Given the description of an element on the screen output the (x, y) to click on. 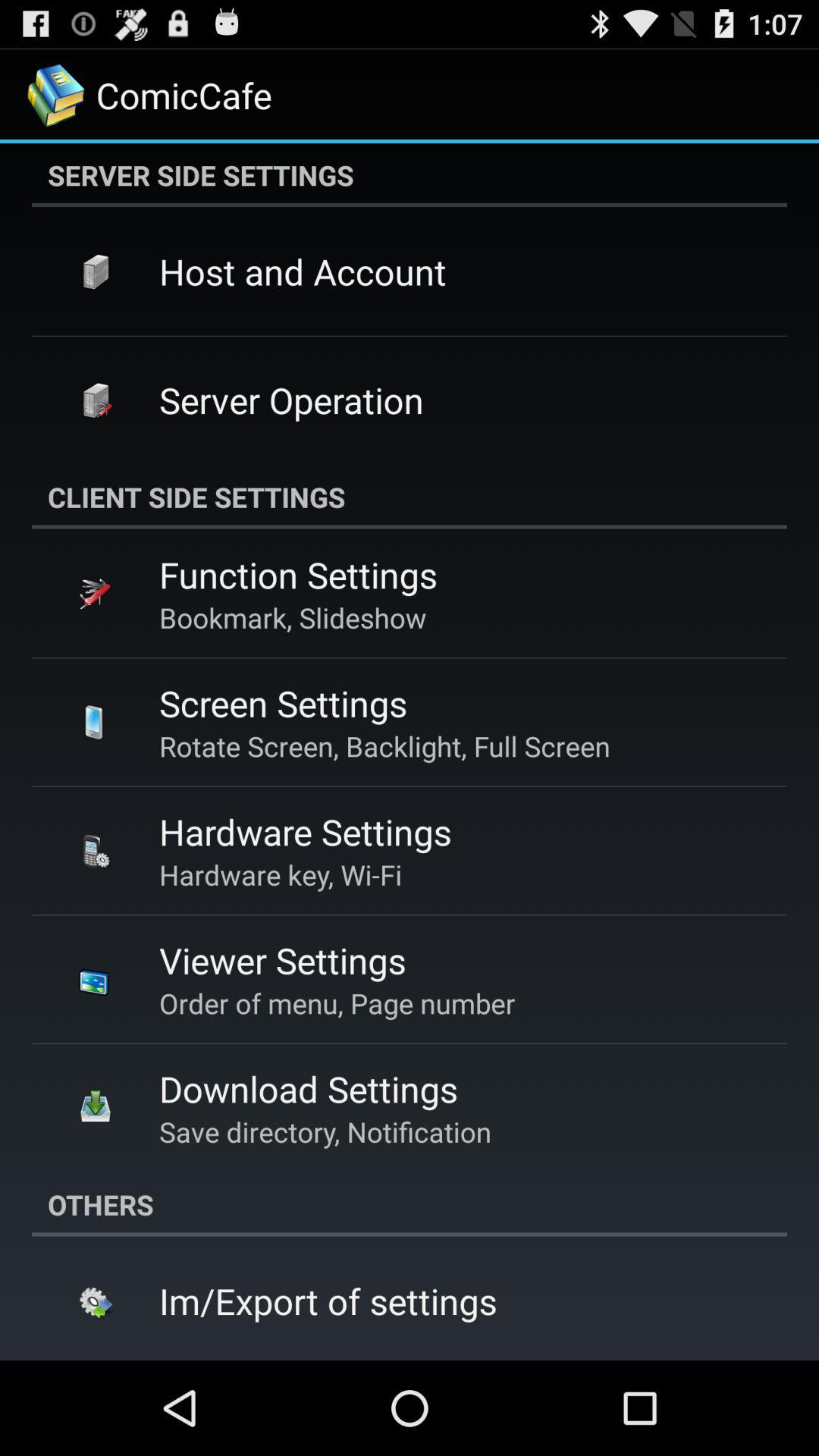
open app below bookmark, slideshow app (283, 703)
